Given the description of an element on the screen output the (x, y) to click on. 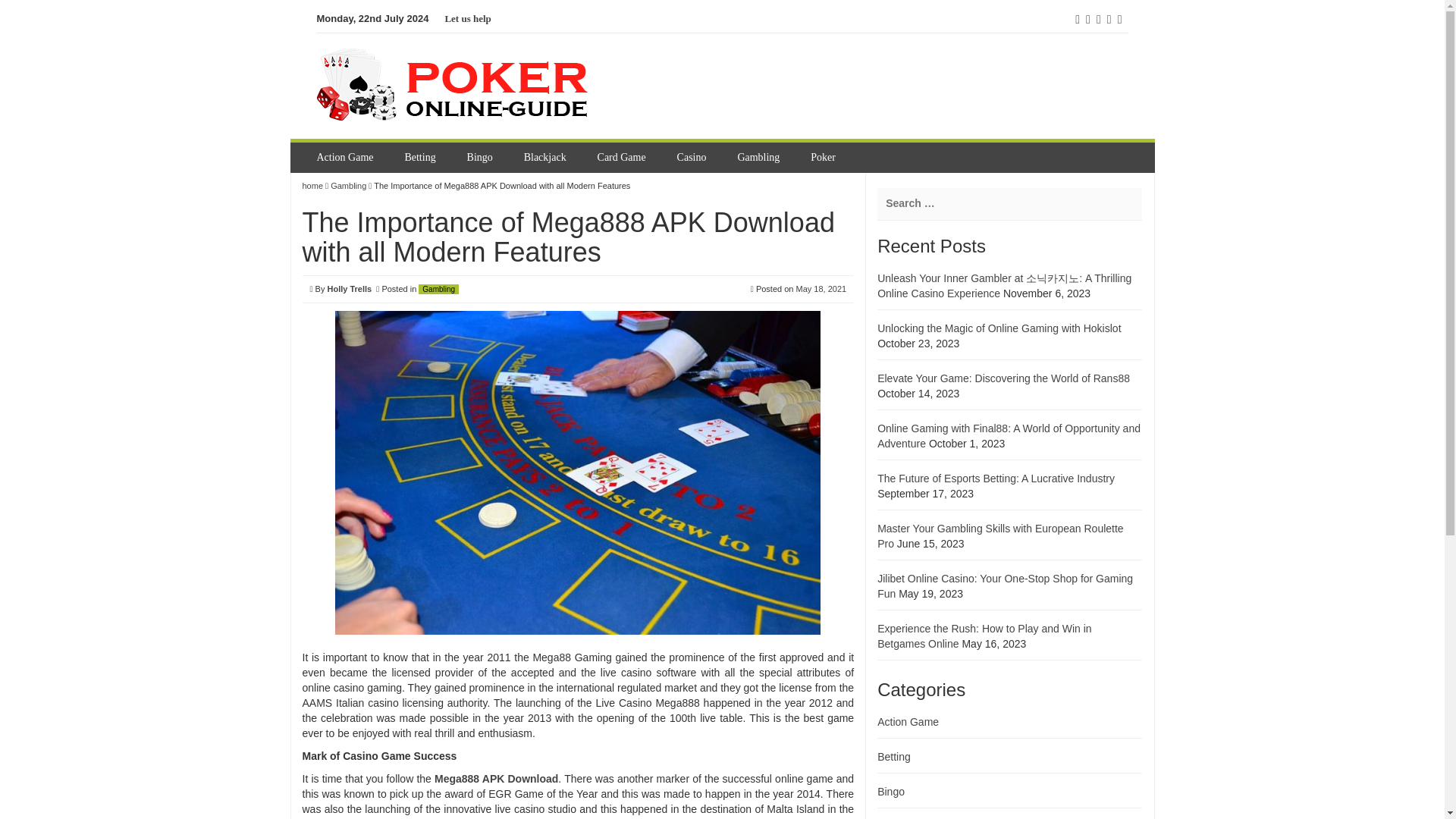
home (312, 185)
Unlocking the Magic of Online Gaming with Hokislot (999, 328)
Blackjack (547, 157)
The Future of Esports Betting: A Lucrative Industry (996, 478)
Mega888 APK Download (495, 778)
Casino (693, 157)
Action Game (346, 157)
Bingo (890, 791)
Search (22, 9)
Master Your Gambling Skills with European Roulette Pro (1000, 535)
Holly Trells (348, 288)
Jilibet Online Casino: Your One-Stop Shop for Gaming Fun (1004, 585)
Action Game (908, 721)
Experience the Rush: How to Play and Win in Betgames Online (983, 636)
